Given the description of an element on the screen output the (x, y) to click on. 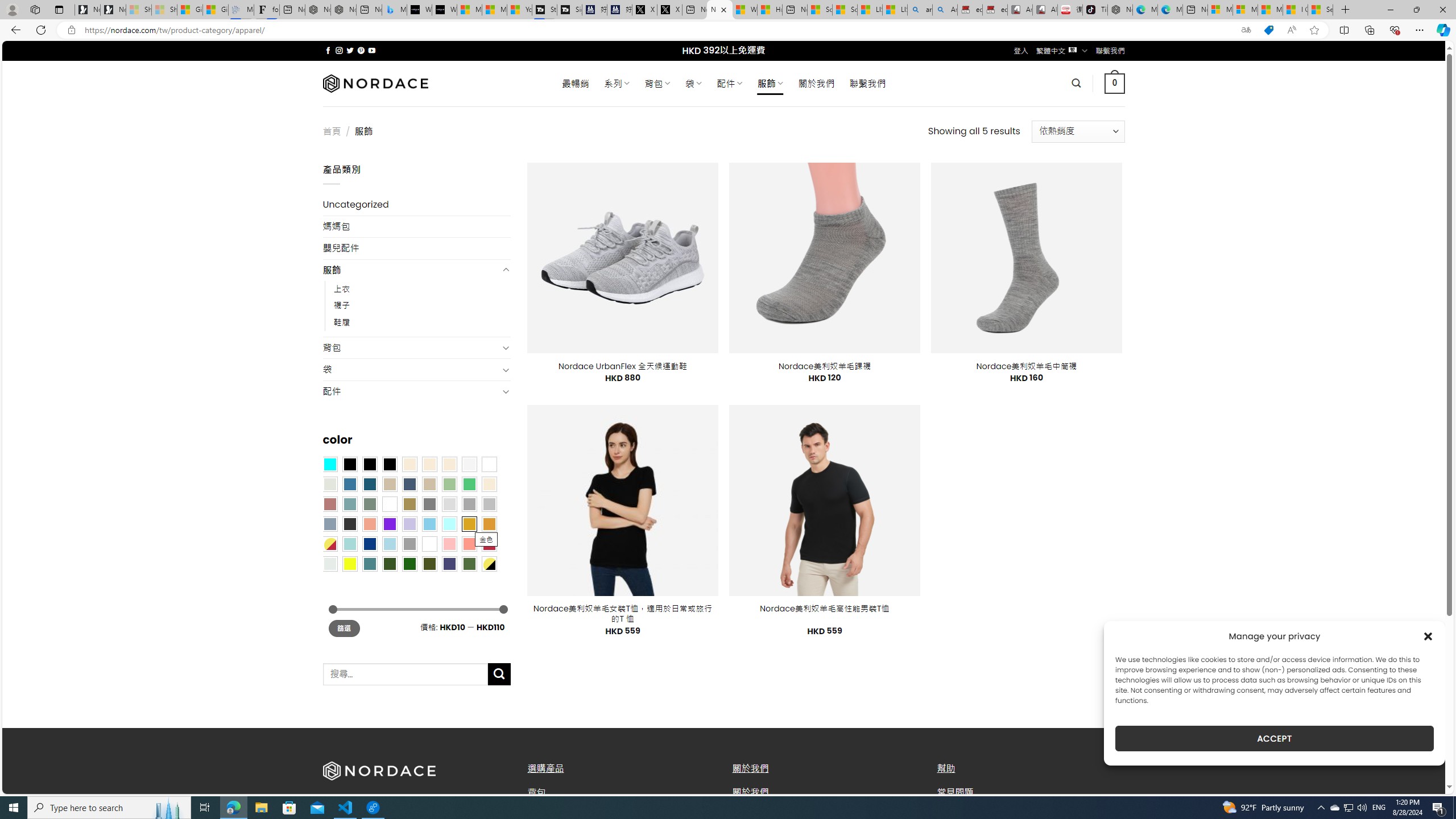
Streaming Coverage | T3 (544, 9)
